Given the description of an element on the screen output the (x, y) to click on. 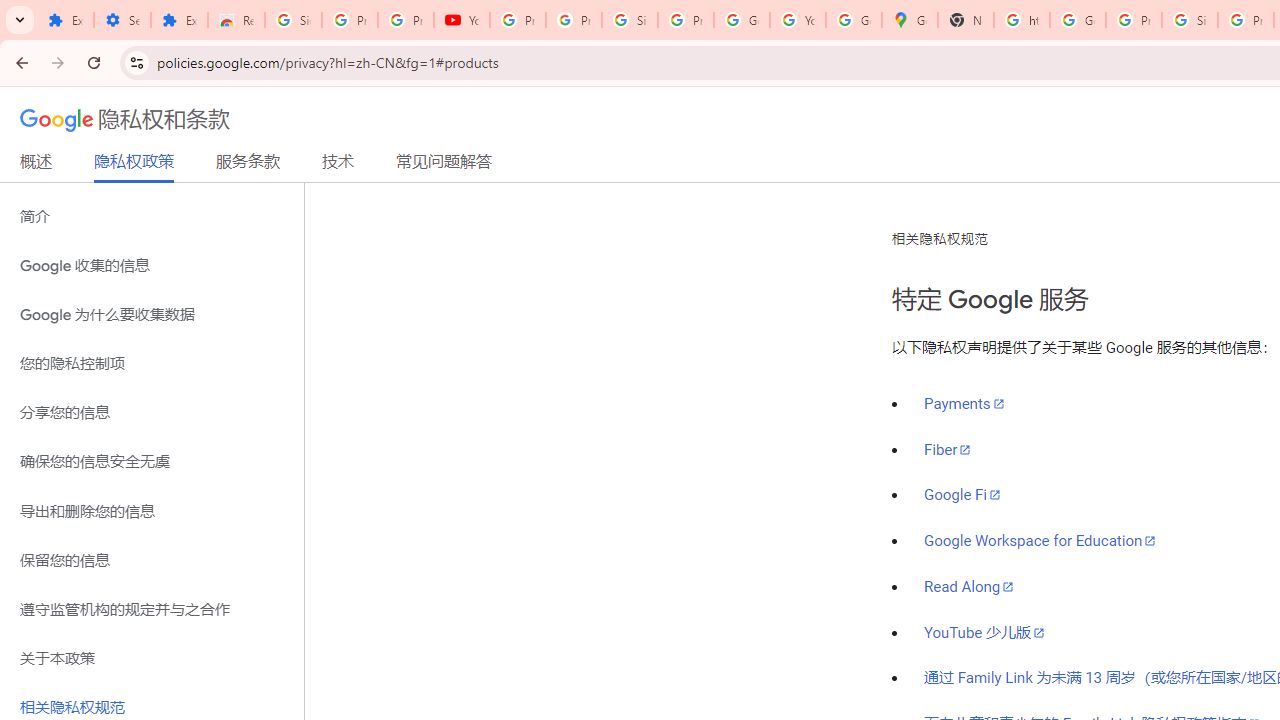
Extensions (179, 20)
Extensions (65, 20)
Reviews: Helix Fruit Jump Arcade Game (235, 20)
https://scholar.google.com/ (1021, 20)
Google Maps (909, 20)
Fiber (947, 449)
